Given the description of an element on the screen output the (x, y) to click on. 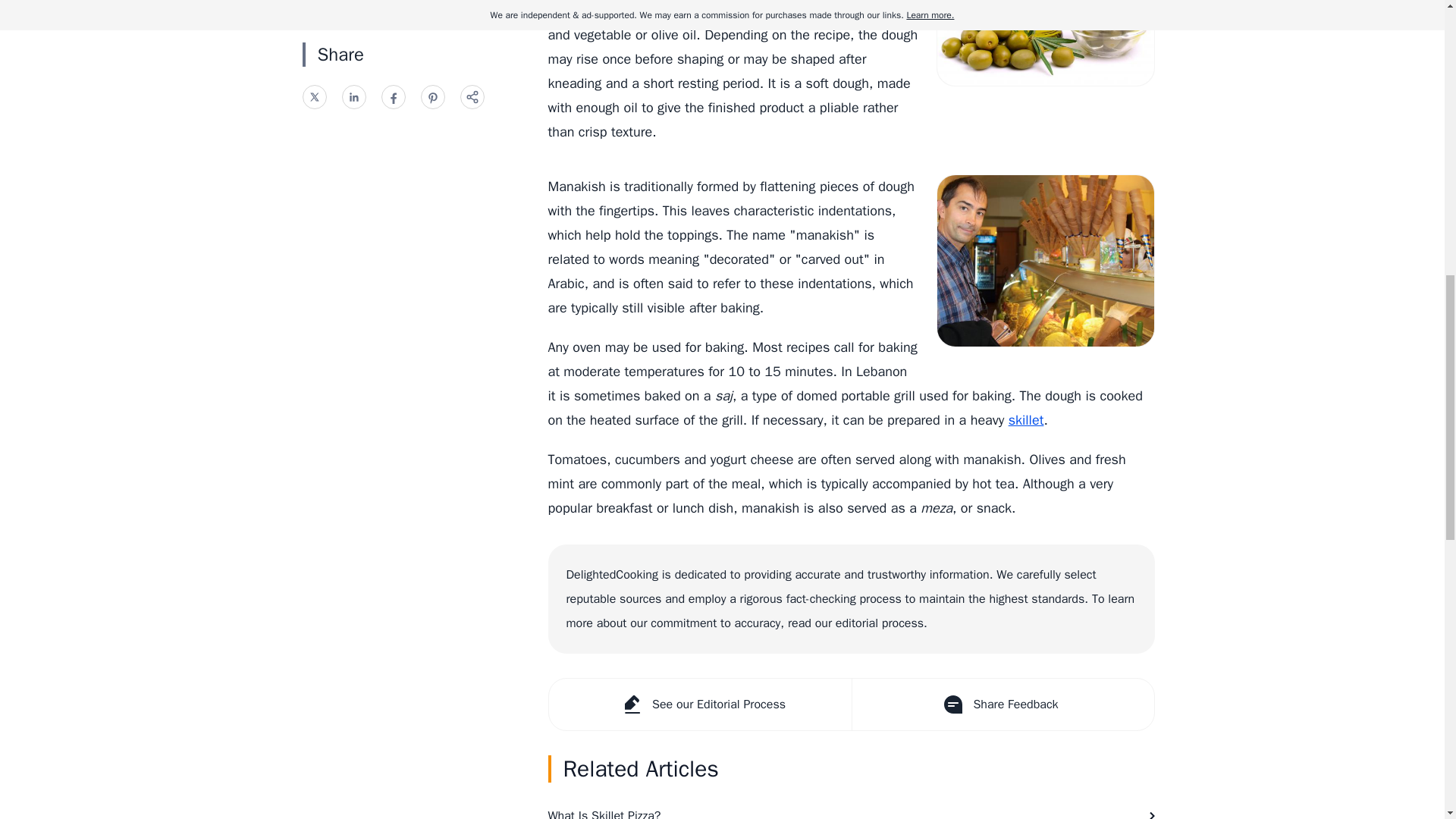
Share Feedback (1001, 704)
What Is Skillet Pizza? (850, 806)
See our Editorial Process (699, 704)
skillet (1026, 419)
